Given the description of an element on the screen output the (x, y) to click on. 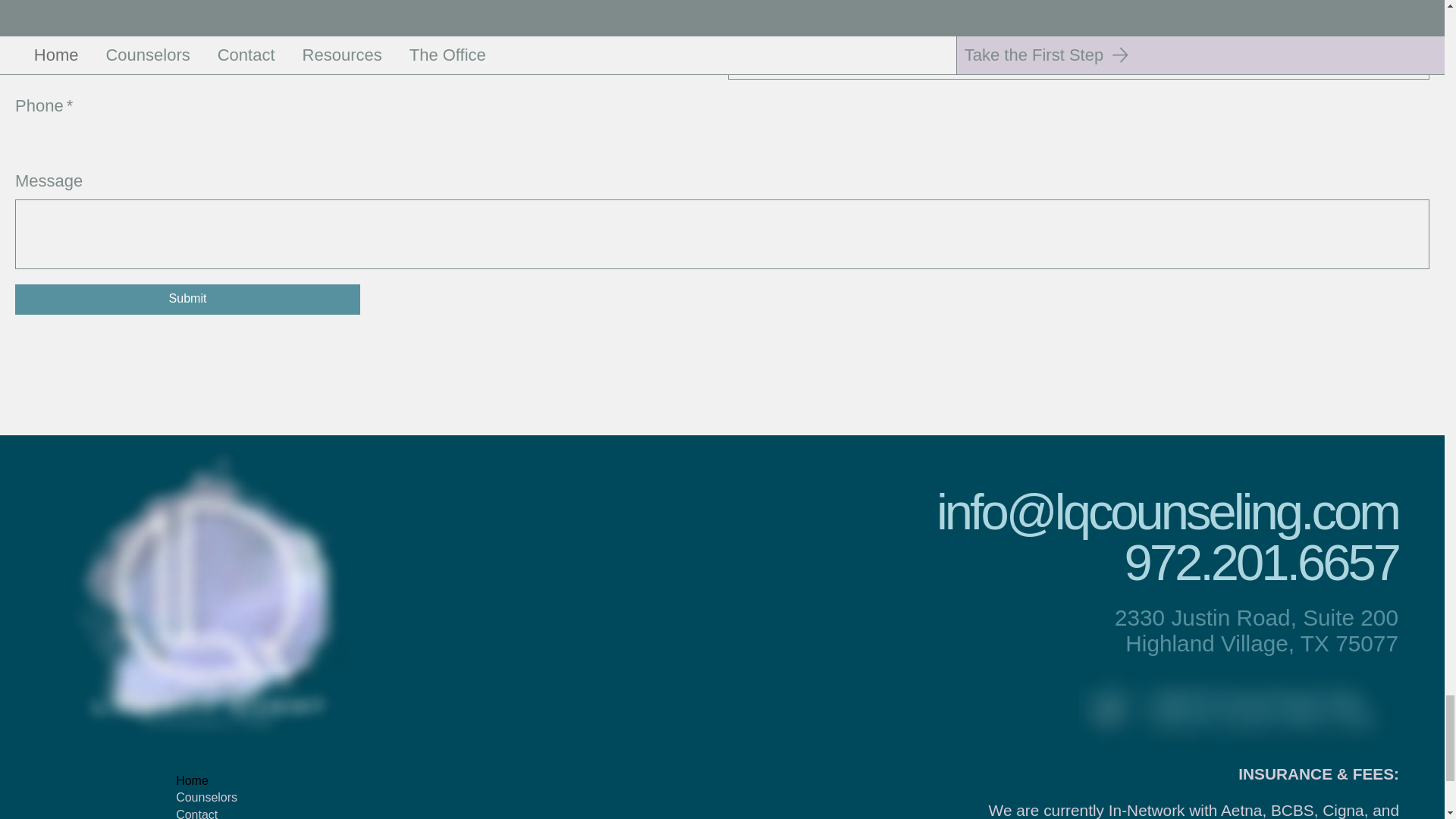
Contact (236, 812)
Counselors (236, 797)
Submit (186, 299)
Home (236, 781)
